Given the description of an element on the screen output the (x, y) to click on. 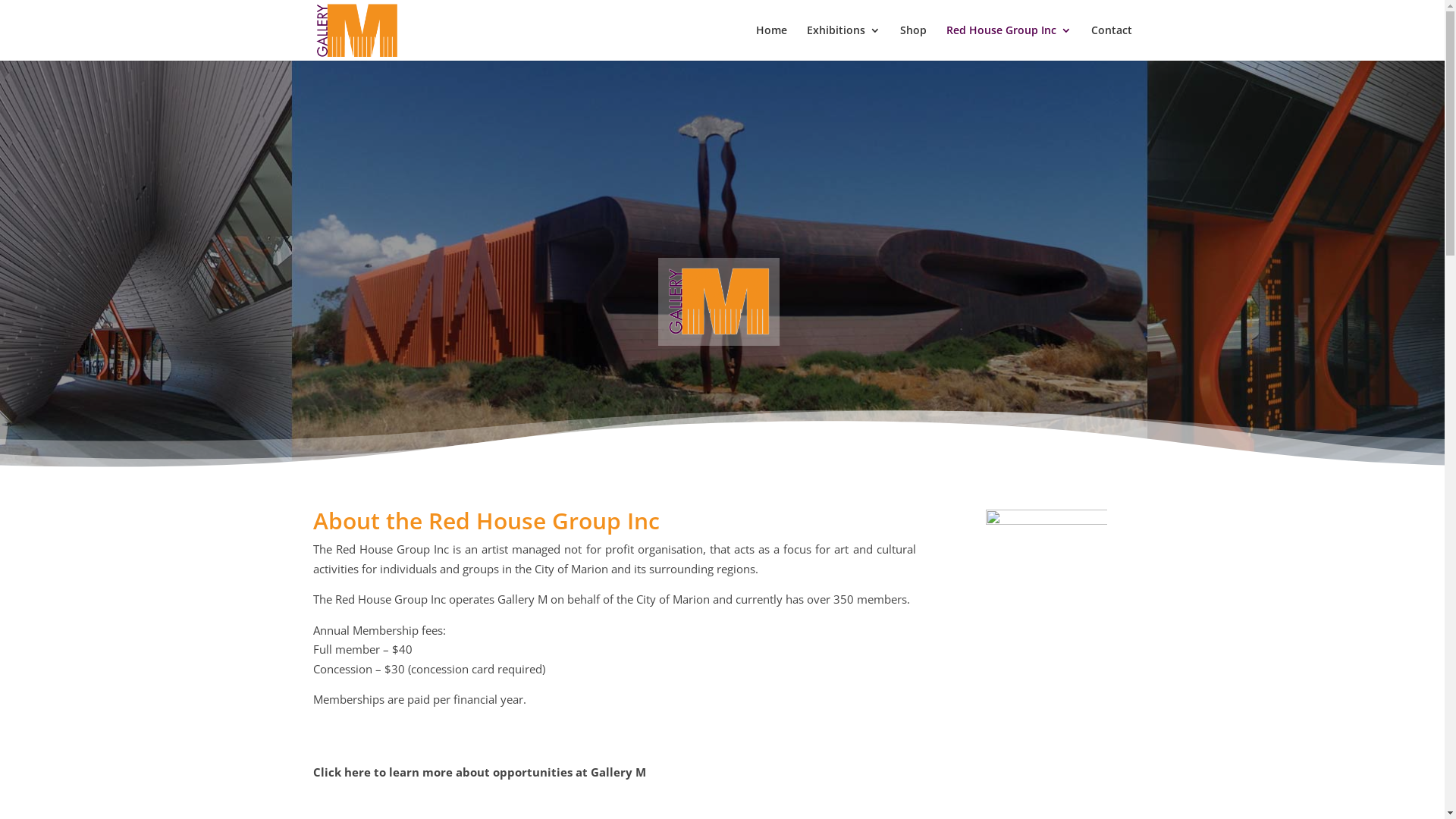
Contact Element type: text (1110, 42)
Red House Group Inc Element type: text (1008, 42)
Home Element type: text (770, 42)
Exhibitions Element type: text (843, 42)
Shop Element type: text (912, 42)
